Given the description of an element on the screen output the (x, y) to click on. 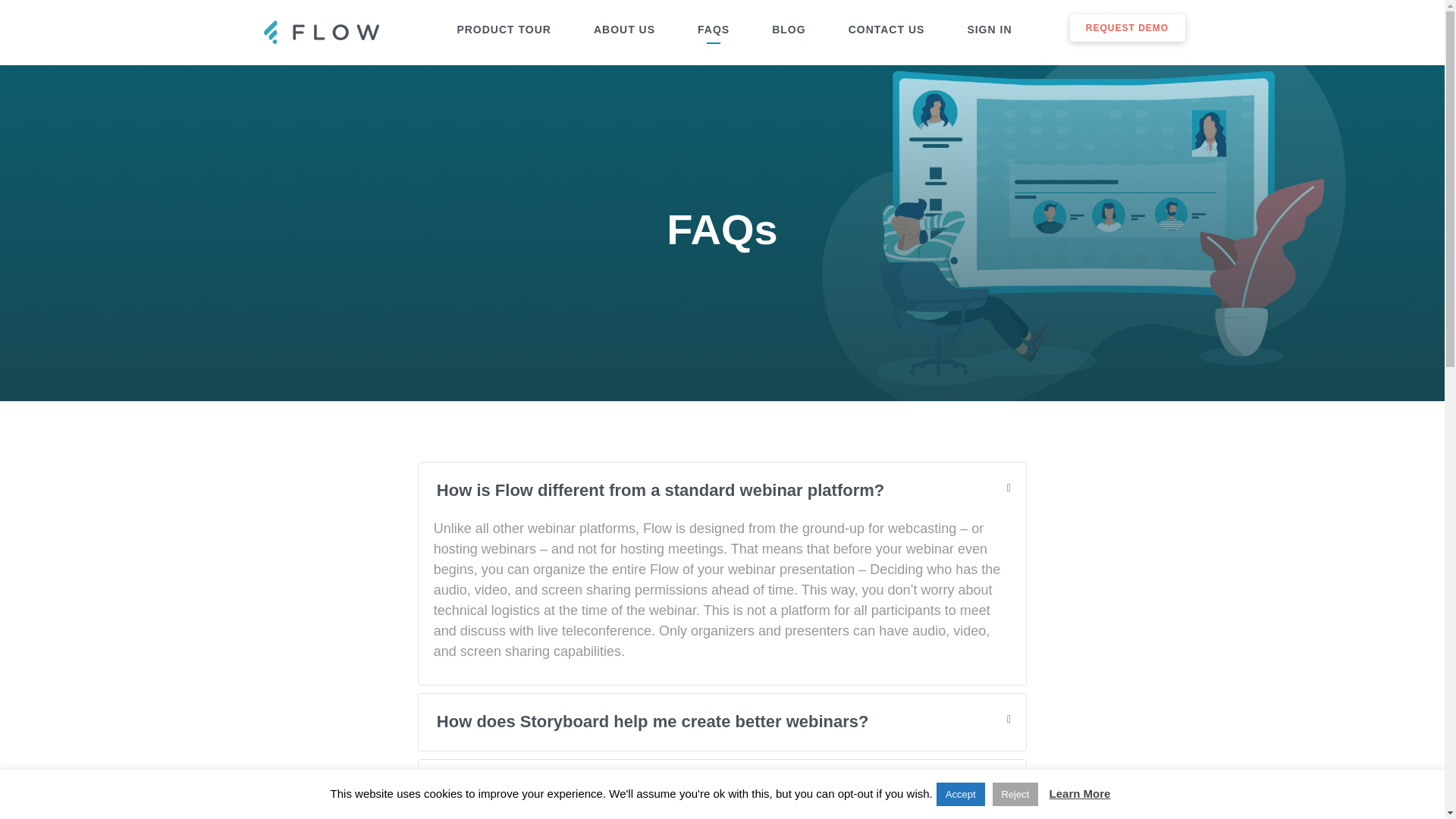
How does Autoflow work? (722, 787)
Reject (1014, 793)
CONTACT US (887, 29)
BLOG (787, 29)
ABOUT US (624, 29)
How is Flow different from a standard webinar platform? (722, 490)
PRODUCT TOUR (503, 29)
SIGN IN (988, 29)
Learn More (1079, 793)
REQUEST DEMO (1126, 27)
Accept (960, 793)
How does Storyboard help me create better webinars? (722, 721)
FAQS (713, 29)
